Given the description of an element on the screen output the (x, y) to click on. 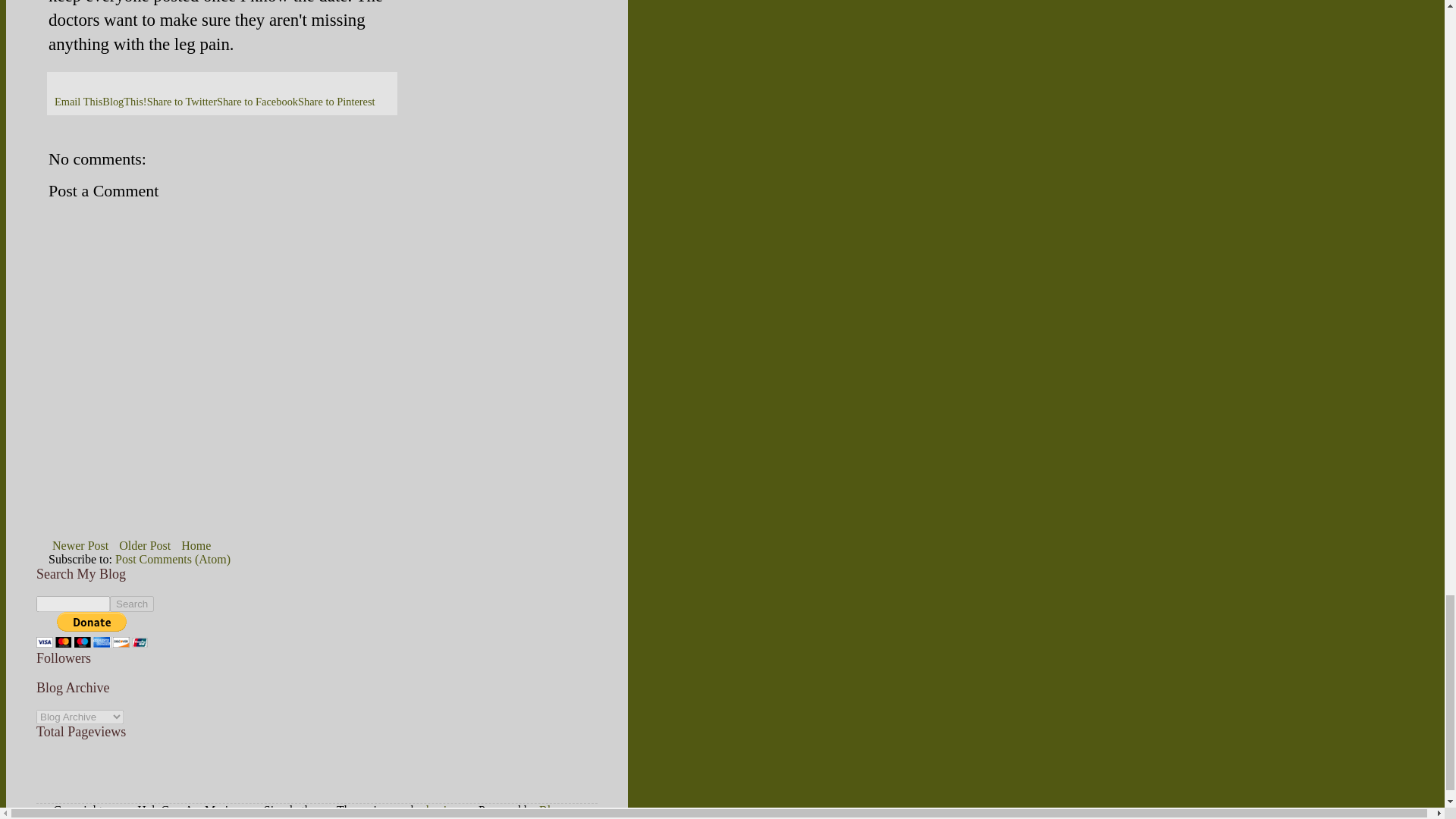
Search (132, 603)
Share to Twitter (181, 101)
BlogThis! (124, 101)
Share to Pinterest (336, 101)
BlogThis! (124, 101)
Email Post (61, 83)
Share to Pinterest (336, 101)
search (132, 603)
Older Post (144, 545)
search (73, 603)
Newer Post (80, 545)
Blogger (558, 809)
Share to Facebook (257, 101)
Email This (78, 101)
Newer Post (80, 545)
